Given the description of an element on the screen output the (x, y) to click on. 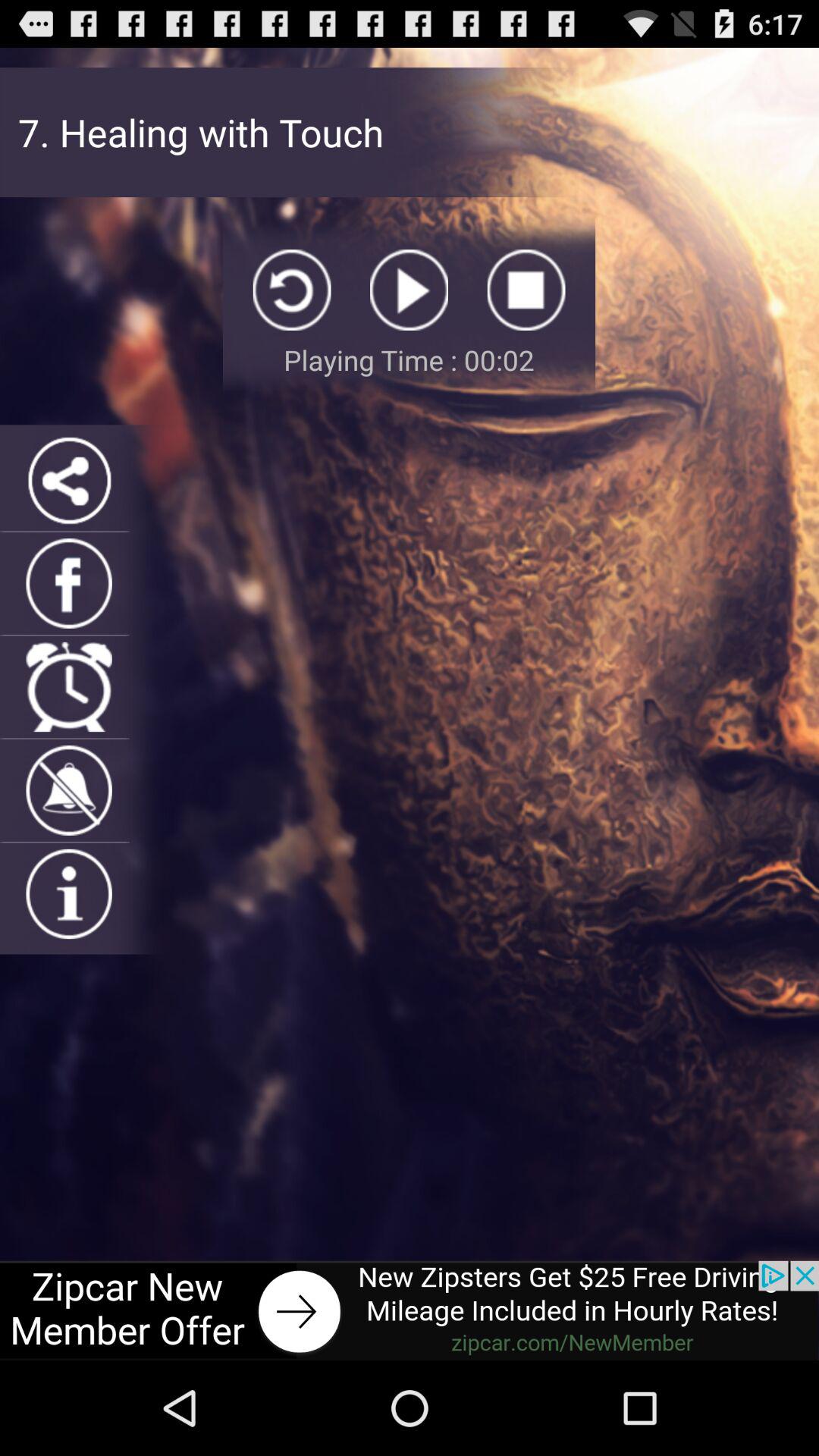
share on facebook (69, 583)
